Given the description of an element on the screen output the (x, y) to click on. 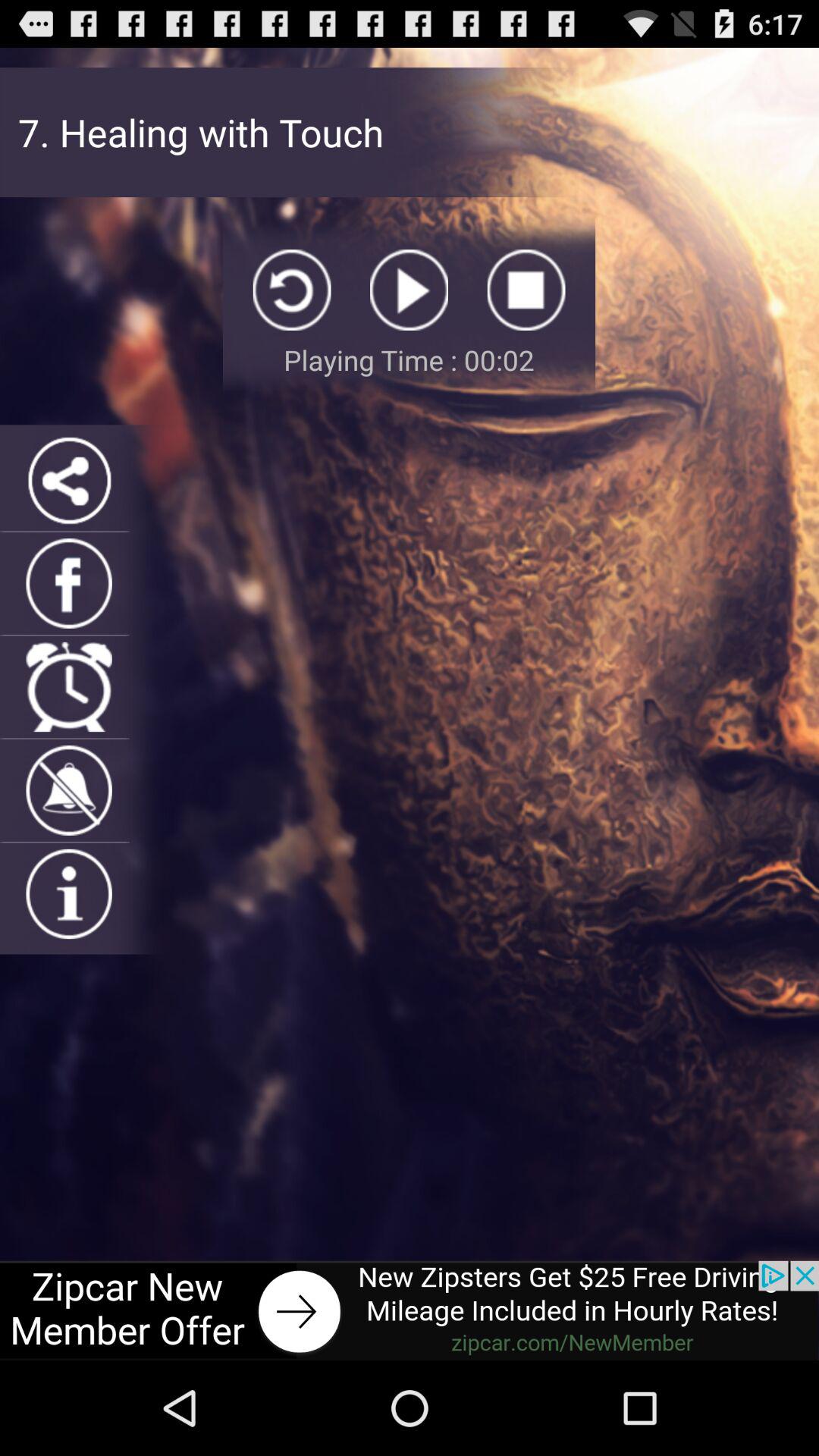
share on facebook (69, 583)
